Given the description of an element on the screen output the (x, y) to click on. 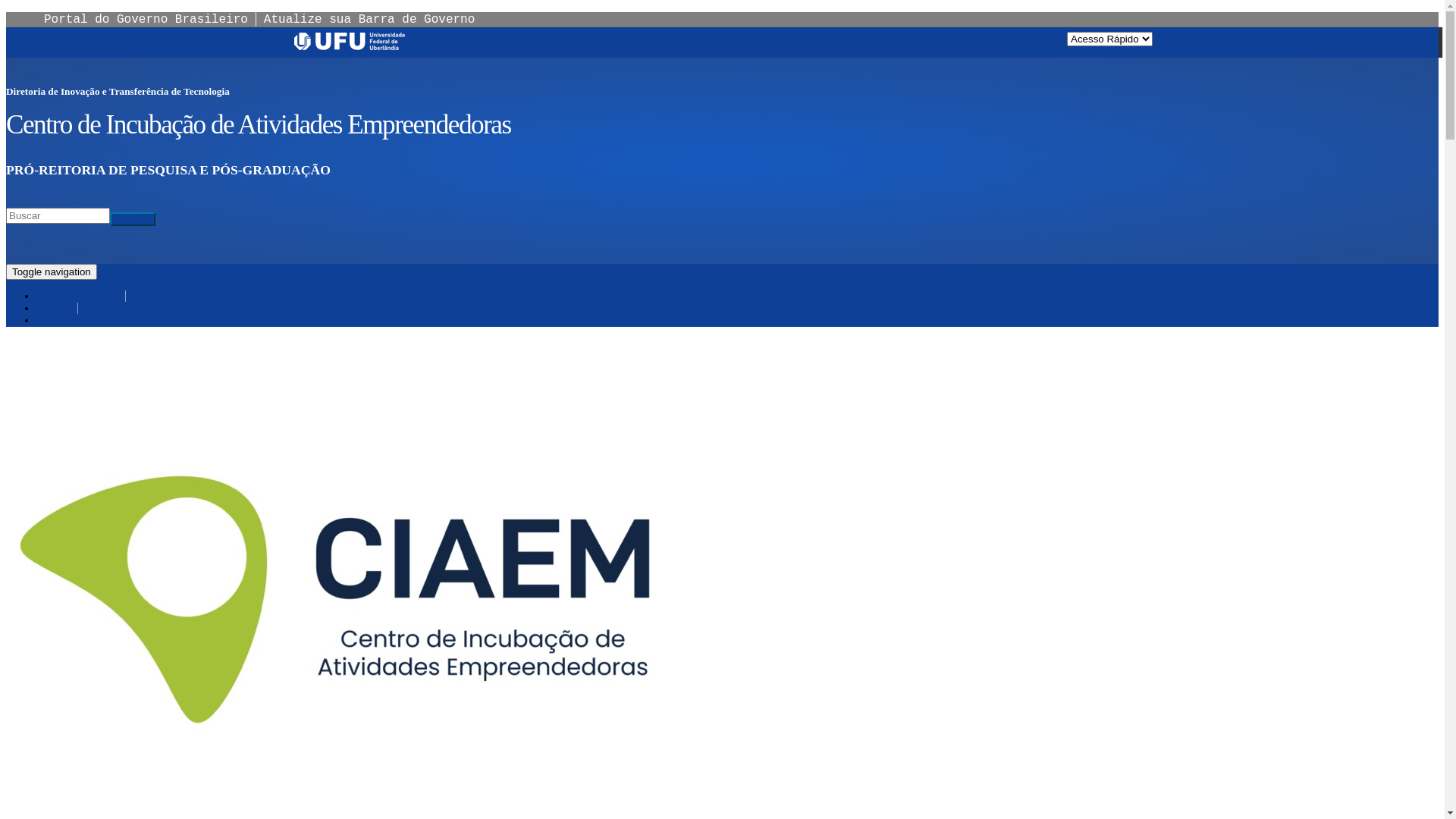
Fale conosco Element type: text (63, 320)
Toggle navigation Element type: text (51, 271)
Buscar Element type: text (44, 232)
Atualize sua Barra de Governo Element type: text (368, 19)
Telefones Element type: text (57, 307)
Perguntas frequentes Element type: text (80, 295)
Portal do Governo Brasileiro Element type: text (145, 19)
